Given the description of an element on the screen output the (x, y) to click on. 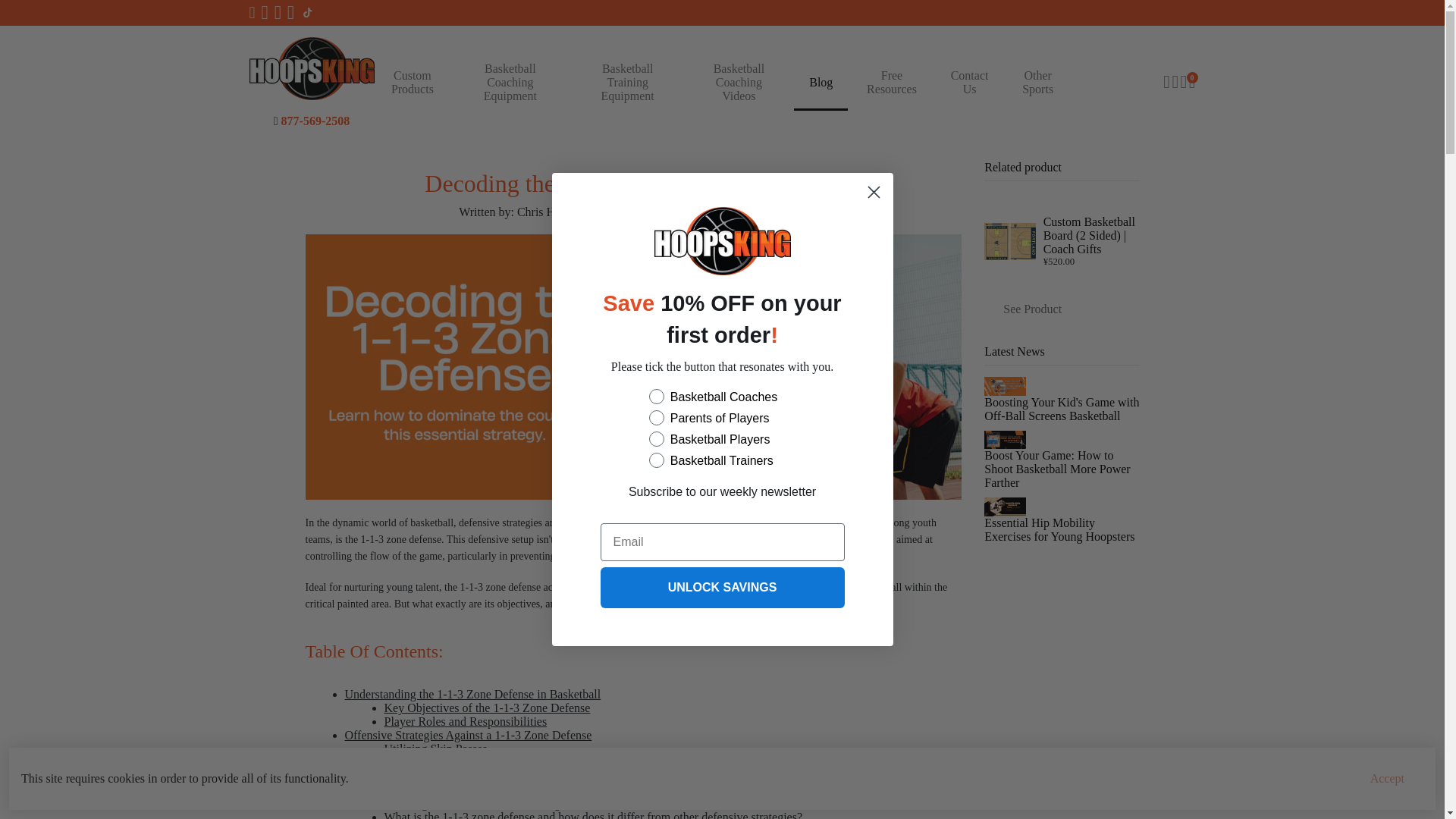
877-569-2508 (315, 119)
Custom Products (411, 82)
Close dialog 8 (873, 192)
